Given the description of an element on the screen output the (x, y) to click on. 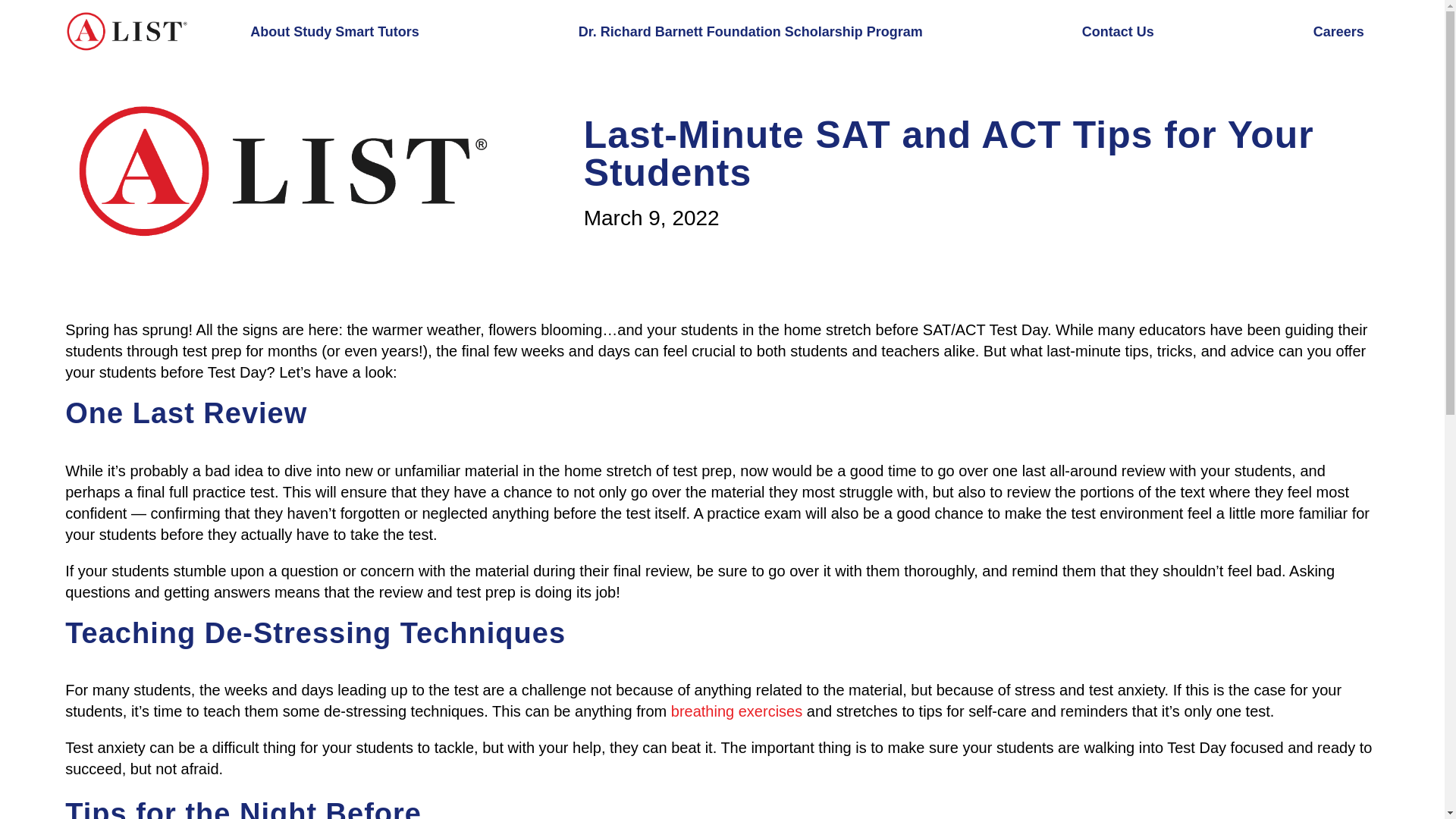
Contact Us (1118, 32)
breathing exercises (736, 710)
Careers (1338, 32)
Dr. Richard Barnett Foundation Scholarship Program (750, 32)
About Study Smart Tutors (333, 32)
